Given the description of an element on the screen output the (x, y) to click on. 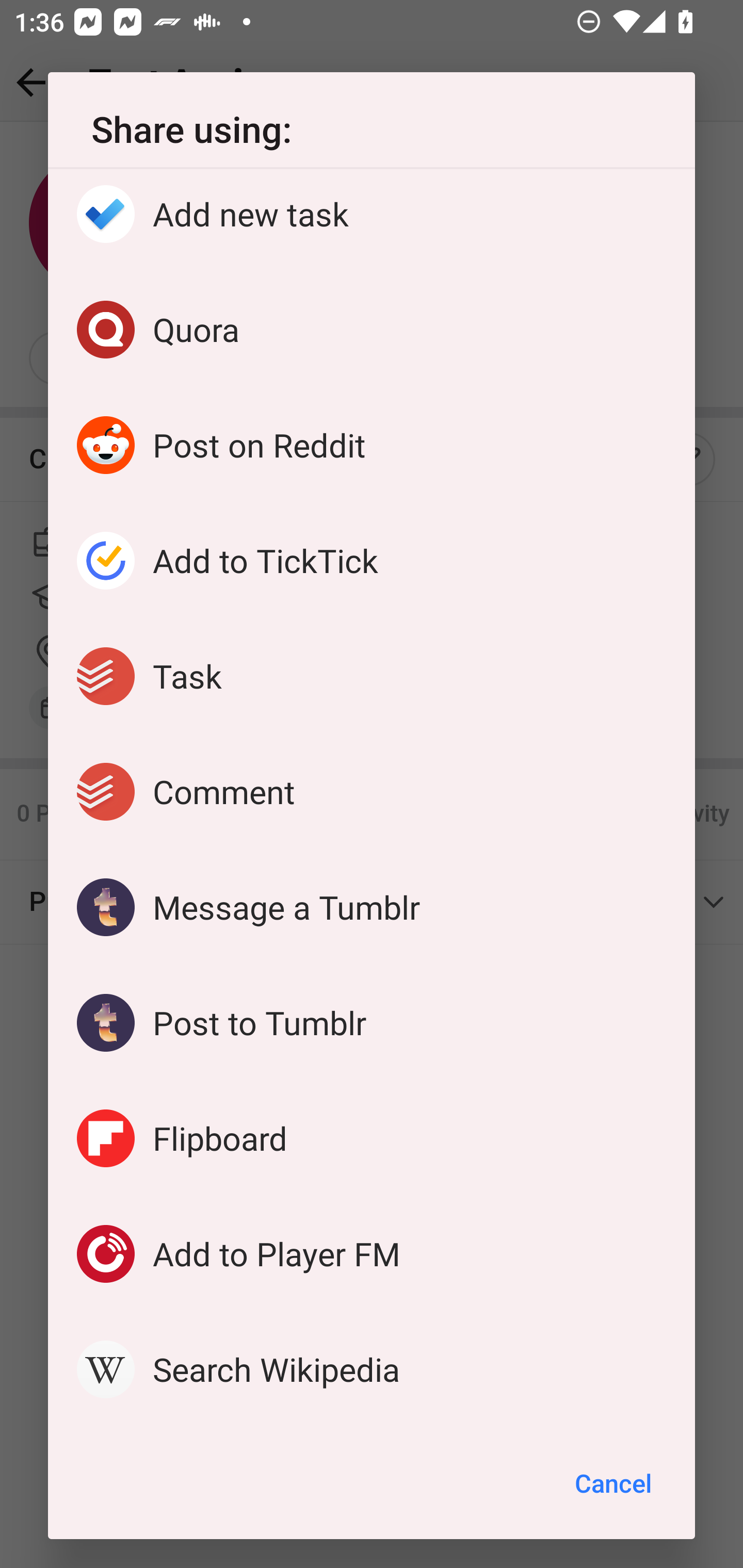
Add new task (371, 219)
Quora (371, 329)
Post on Reddit (371, 445)
Add to TickTick (371, 560)
Task (371, 675)
Comment (371, 791)
Message a Tumblr (371, 906)
Post to Tumblr (371, 1022)
Flipboard (371, 1138)
Add to Player FM (371, 1254)
Search Wikipedia (371, 1369)
Cancel (612, 1482)
